Given the description of an element on the screen output the (x, y) to click on. 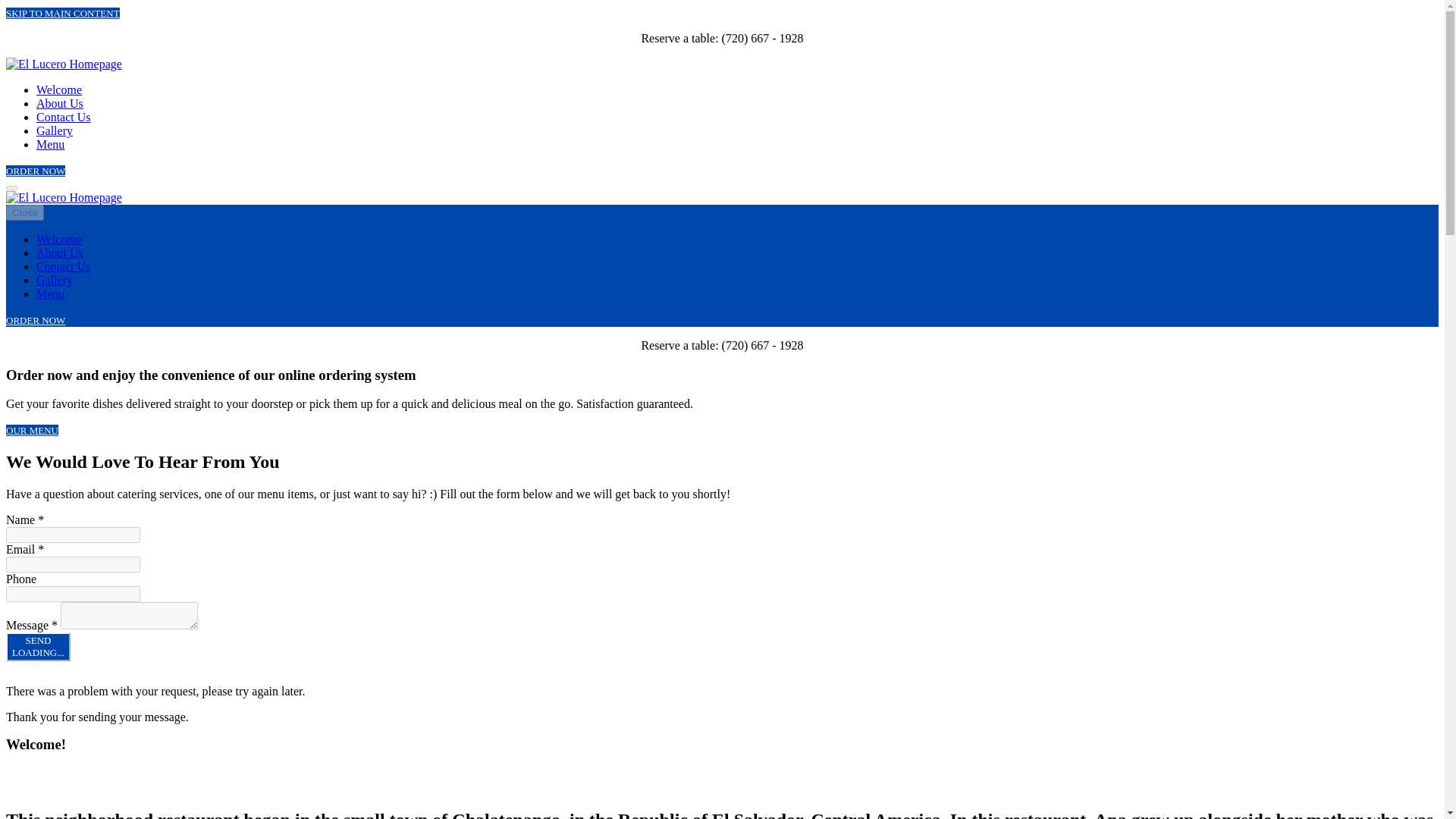
Menu (37, 646)
Gallery (50, 144)
ORDER NOW (54, 279)
Close (35, 319)
ORDER NOW (24, 212)
About Us (35, 170)
Welcome (59, 252)
SKIP TO MAIN CONTENT (58, 238)
Menu (62, 12)
